Given the description of an element on the screen output the (x, y) to click on. 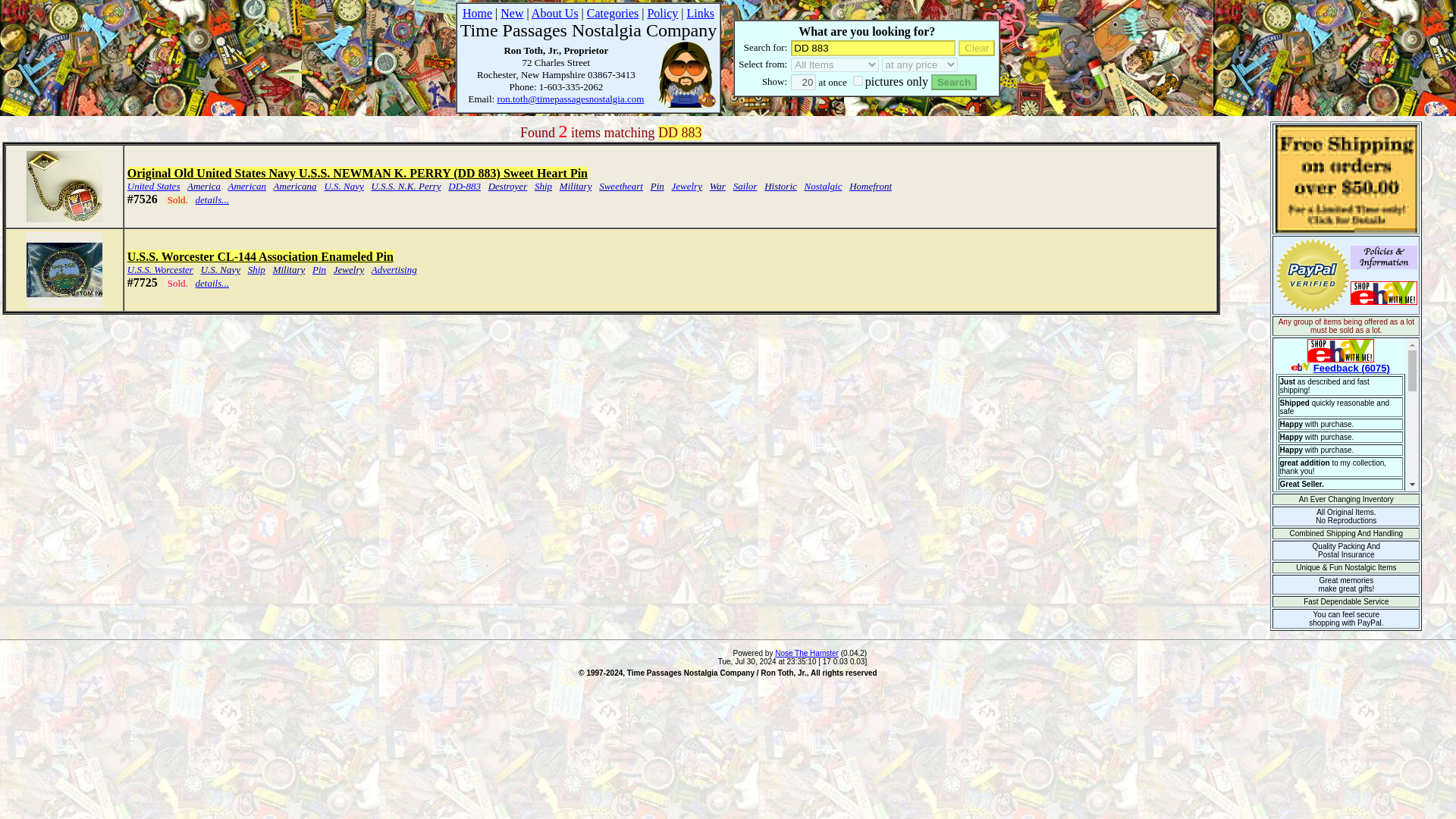
Sweetheart (620, 185)
U.S.S. Worcester CL-144 Association Enameled Pin (260, 256)
Americana (295, 185)
Pin (319, 269)
Policy (662, 12)
Destroyer (507, 185)
U.S.S. Worcester (160, 269)
Search (953, 82)
War (717, 185)
details... (211, 199)
DD-883 (464, 185)
Ship (542, 185)
Military (575, 185)
Ship (255, 269)
About Us (554, 12)
